Given the description of an element on the screen output the (x, y) to click on. 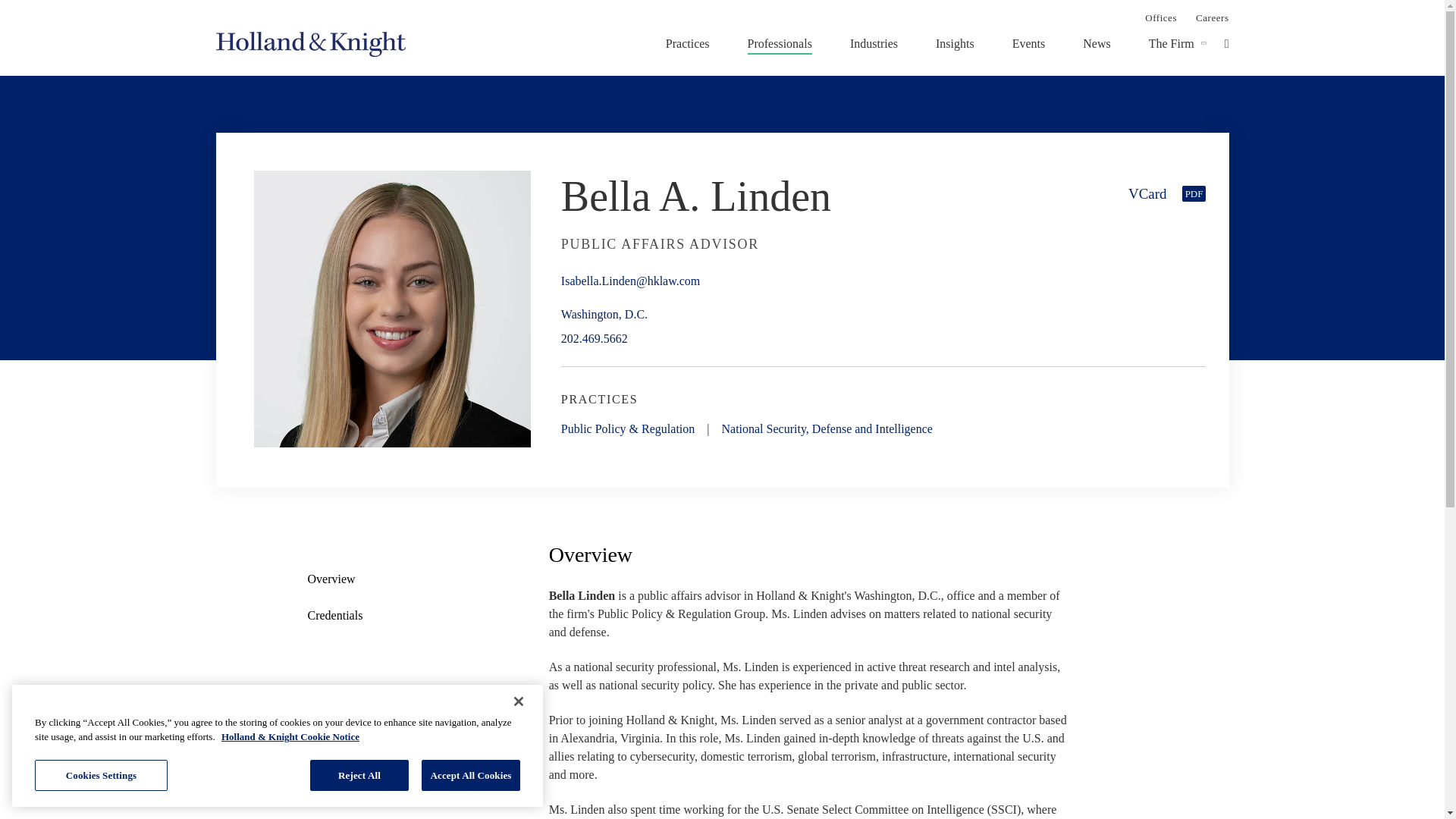
Professionals (780, 42)
National Security, Defense and Intelligence (825, 428)
Careers (1211, 16)
202.469.5662 (603, 338)
Insights (955, 42)
News (1096, 42)
The Firm (1170, 43)
Offices (1160, 16)
Overview (383, 578)
Credentials (334, 615)
